Given the description of an element on the screen output the (x, y) to click on. 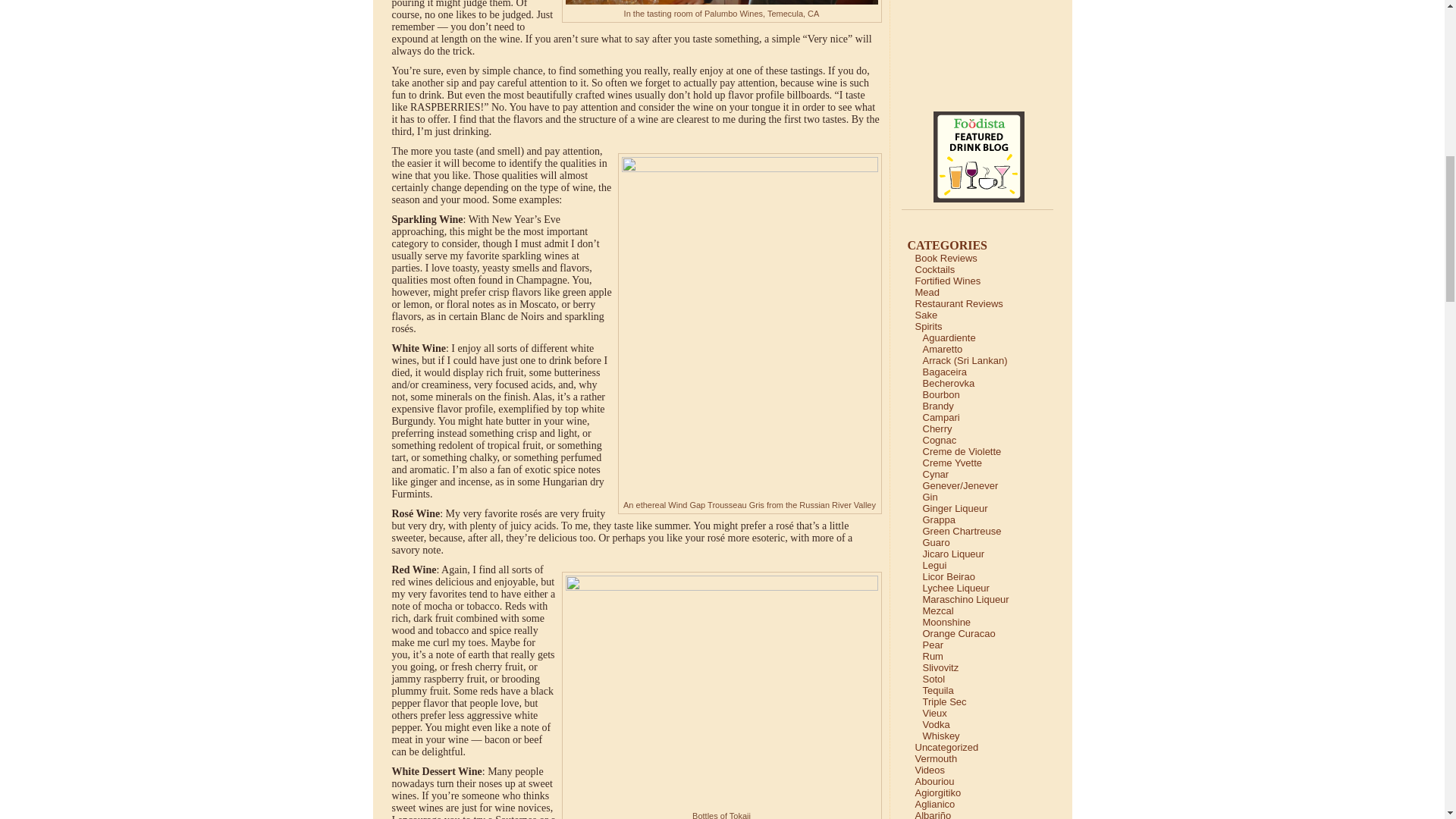
Book Reviews (945, 257)
